Given the description of an element on the screen output the (x, y) to click on. 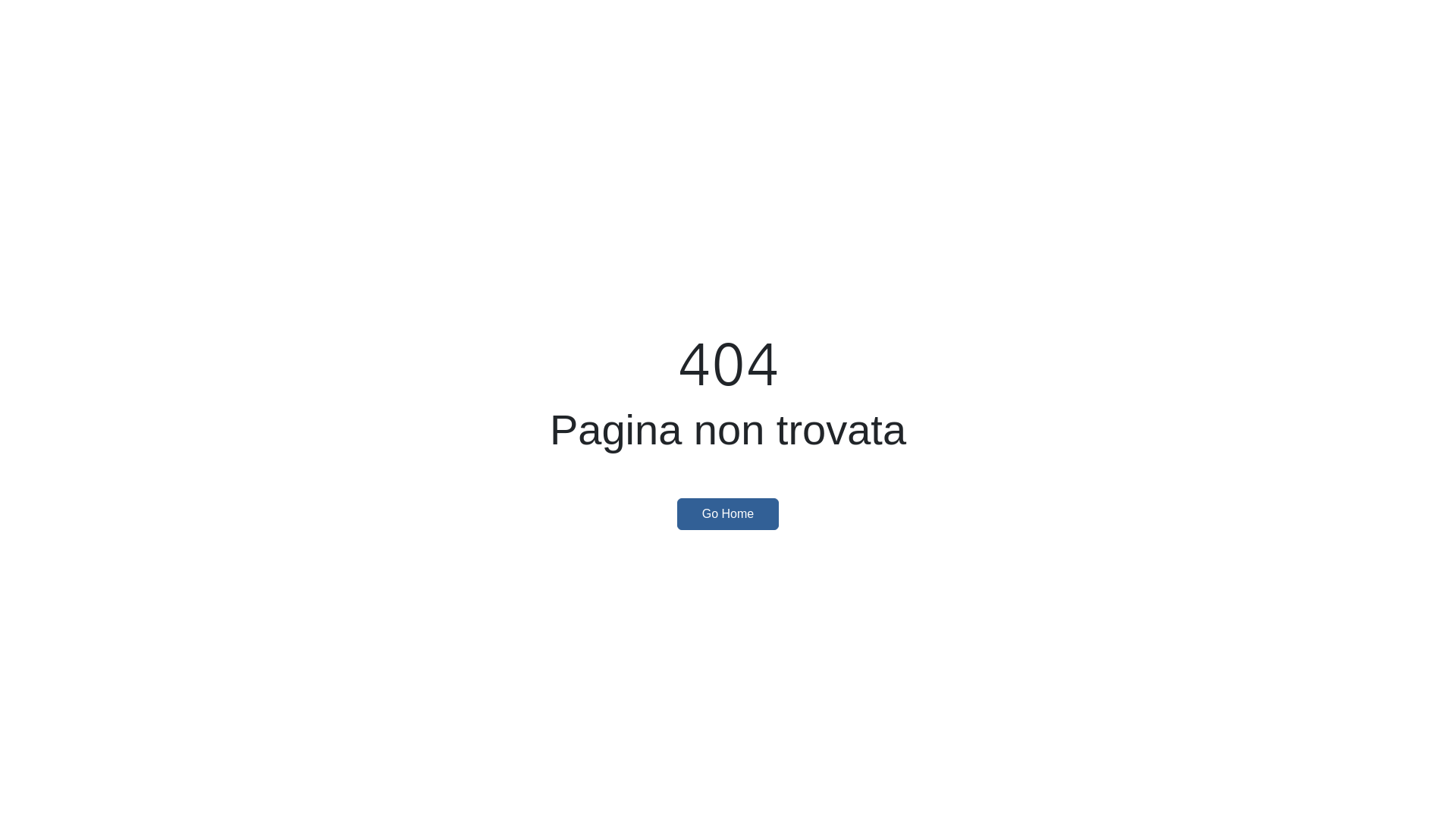
Go Home Element type: text (727, 514)
